Given the description of an element on the screen output the (x, y) to click on. 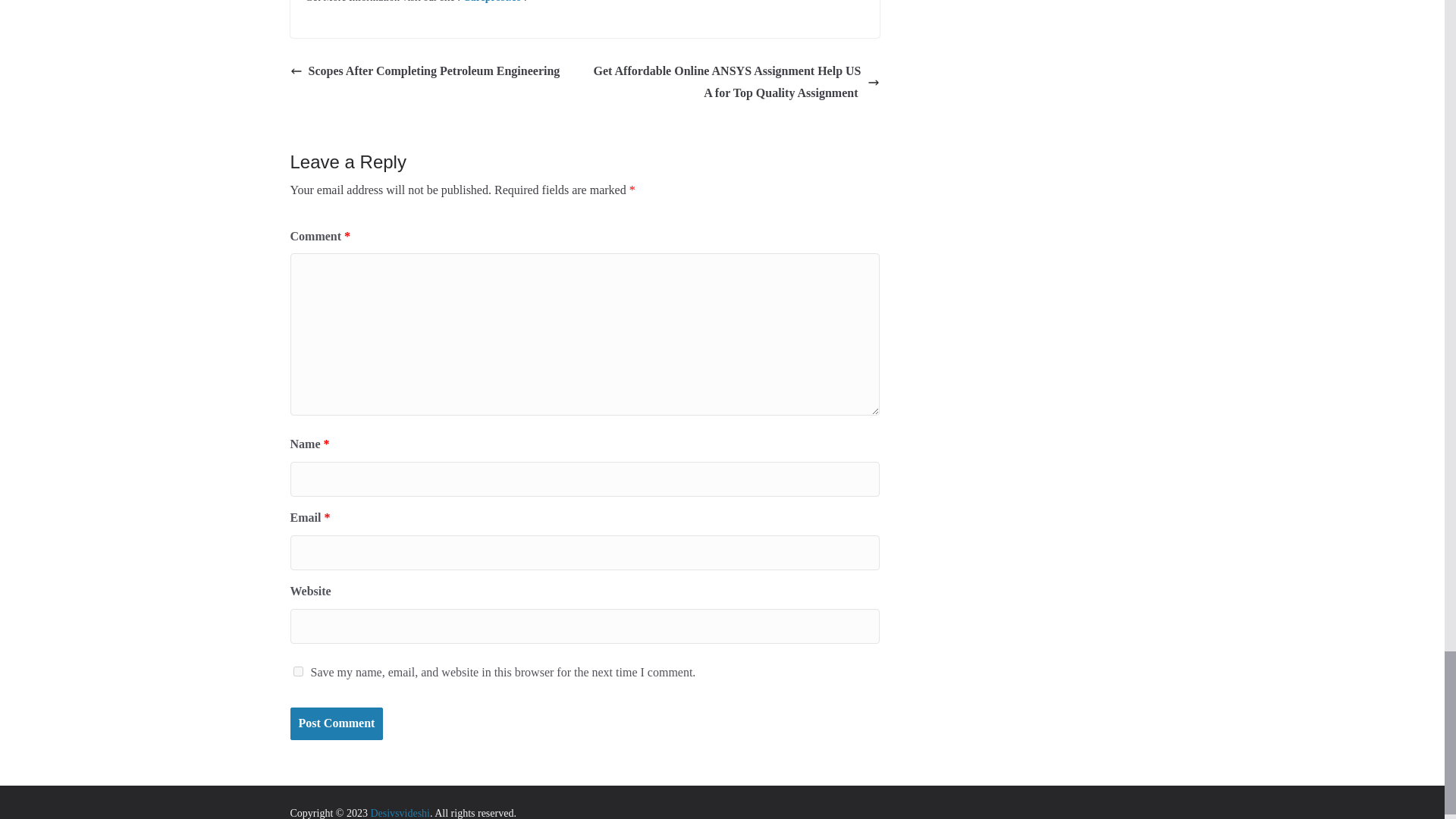
Post Comment (335, 723)
yes (297, 671)
Scopes After Completing Petroleum Engineering (424, 71)
Post Comment (335, 723)
Careprost.co (492, 1)
